Given the description of an element on the screen output the (x, y) to click on. 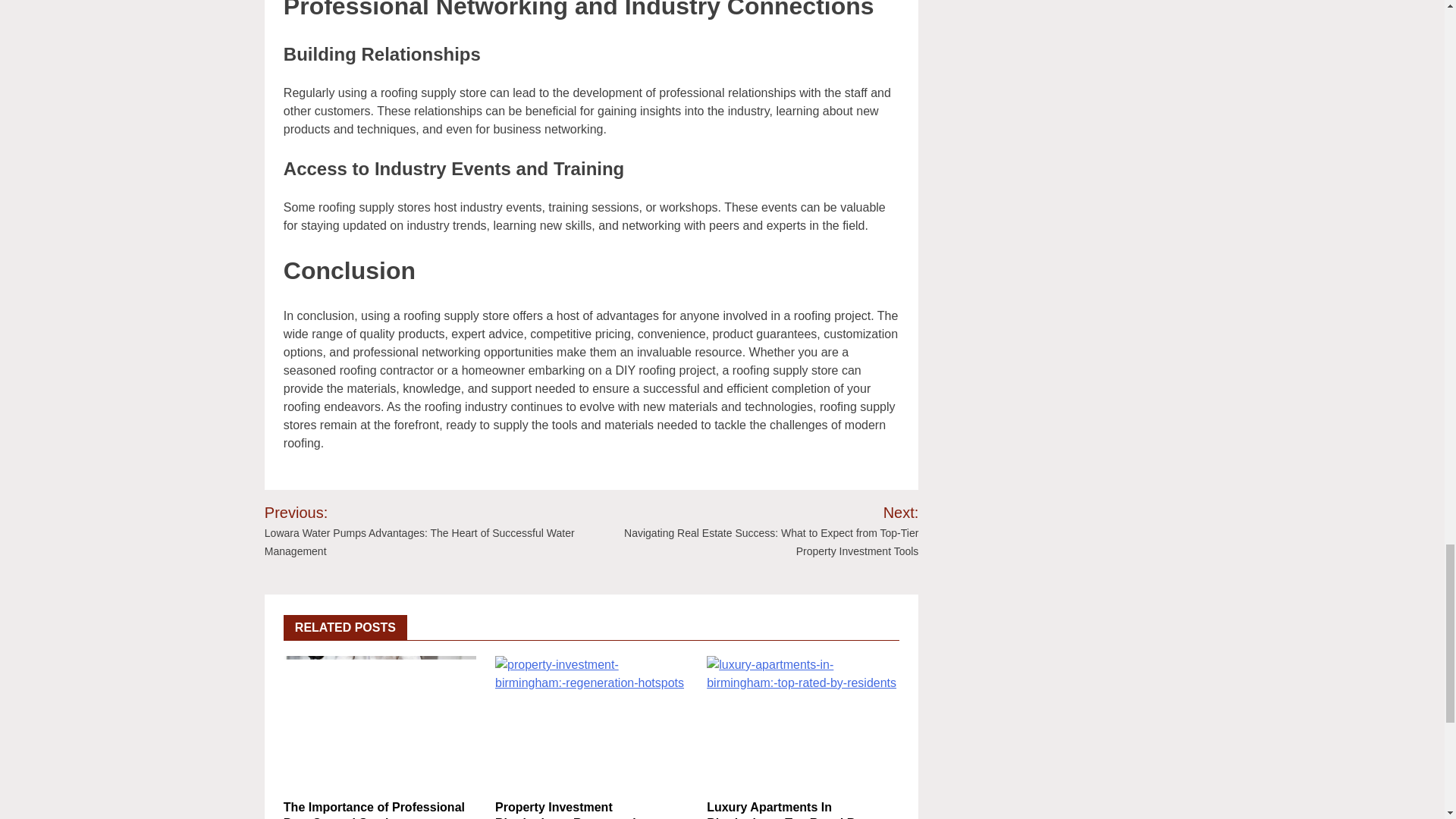
Property Investment Birmingham: Regeneration Hotspots (572, 809)
Luxury Apartments In Birmingham: Top Rated By Residents (783, 809)
